Given the description of an element on the screen output the (x, y) to click on. 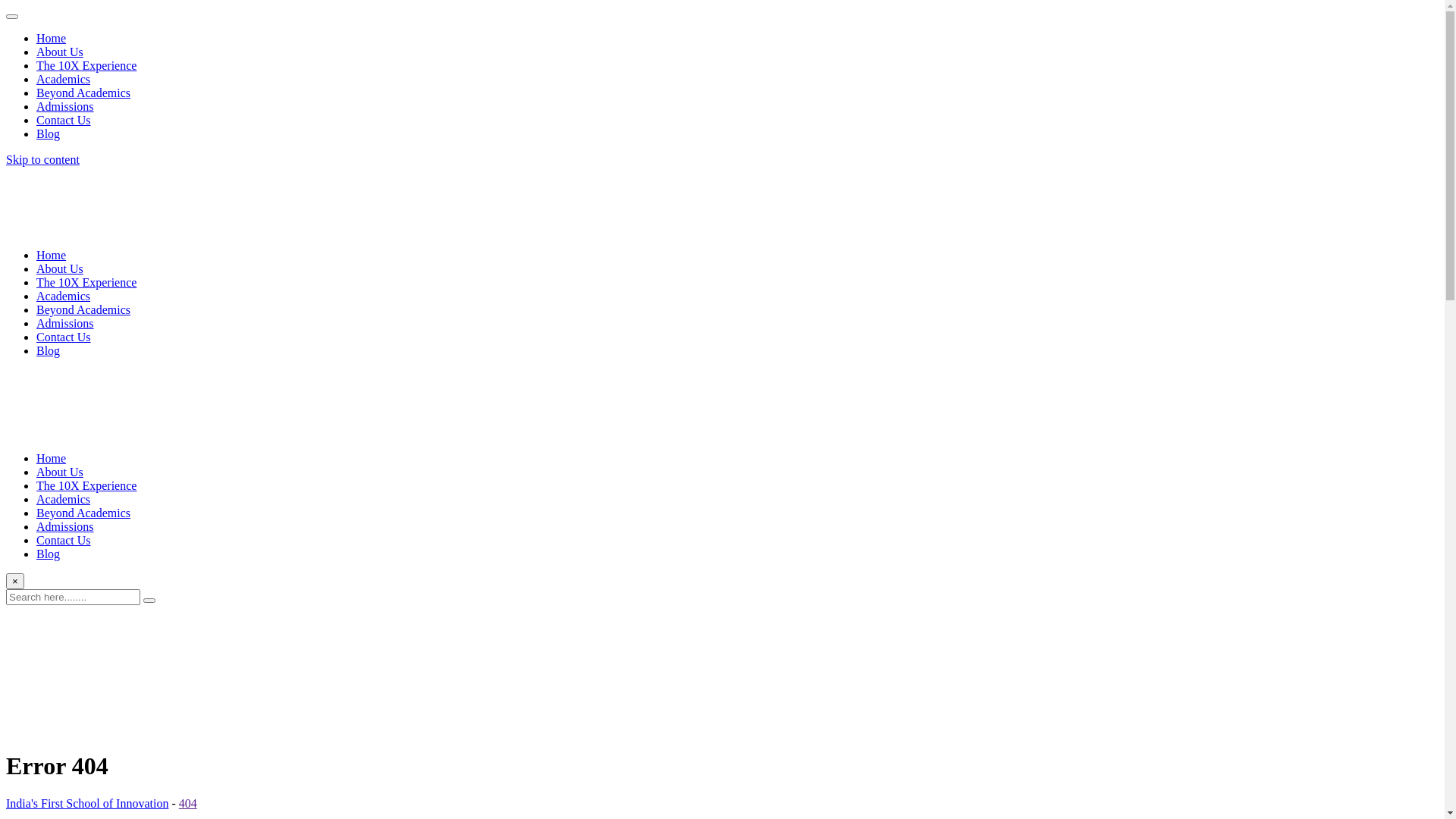
Blog Element type: text (47, 350)
Home Element type: text (50, 457)
Academics Element type: text (63, 78)
Admissions Element type: text (65, 526)
404 Element type: text (187, 803)
Beyond Academics Element type: text (83, 92)
The 10X Experience Element type: text (86, 282)
The 10X Experience Element type: text (86, 485)
About Us Element type: text (59, 268)
Home Element type: text (50, 254)
Contact Us Element type: text (63, 119)
Admissions Element type: text (65, 106)
Skip to content Element type: text (42, 159)
Beyond Academics Element type: text (83, 512)
Academics Element type: text (63, 295)
About Us Element type: text (59, 51)
Admissions Element type: text (65, 322)
Blog Element type: text (47, 133)
Contact Us Element type: text (63, 539)
The 10X Experience Element type: text (86, 65)
Academics Element type: text (63, 498)
Contact Us Element type: text (63, 336)
India's First School of Innovation Element type: text (87, 803)
Blog Element type: text (47, 553)
About Us Element type: text (59, 471)
Beyond Academics Element type: text (83, 309)
Home Element type: text (50, 37)
